Given the description of an element on the screen output the (x, y) to click on. 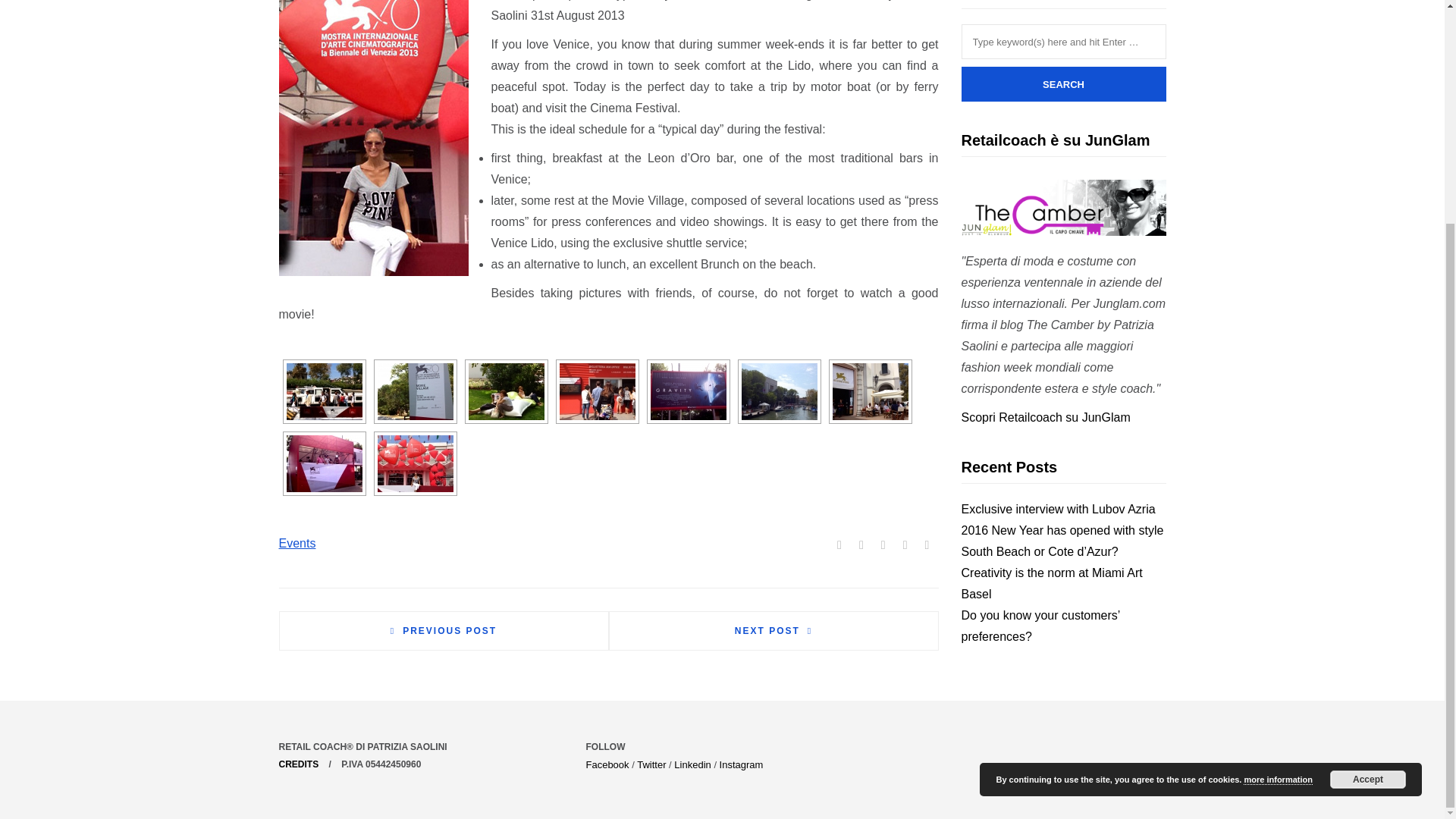
01 (324, 391)
Search (1063, 83)
06 (778, 391)
PREVIOUS POST (443, 630)
04 (596, 391)
Events (297, 543)
Search (1063, 83)
07 (870, 391)
05 (688, 391)
NEXT POST (772, 630)
02 (414, 391)
03 (506, 391)
